Given the description of an element on the screen output the (x, y) to click on. 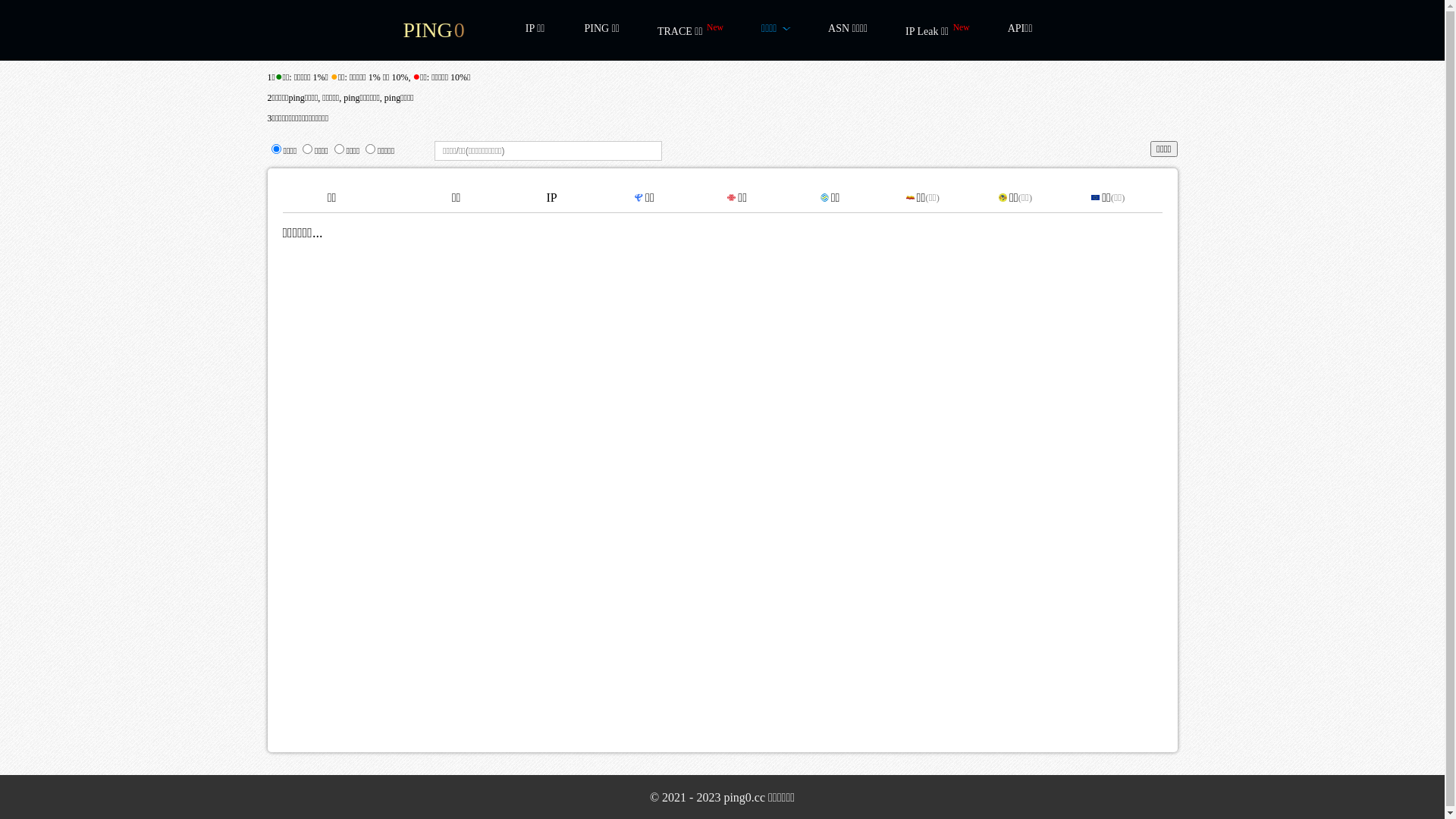
PING0 Element type: text (433, 30)
